Given the description of an element on the screen output the (x, y) to click on. 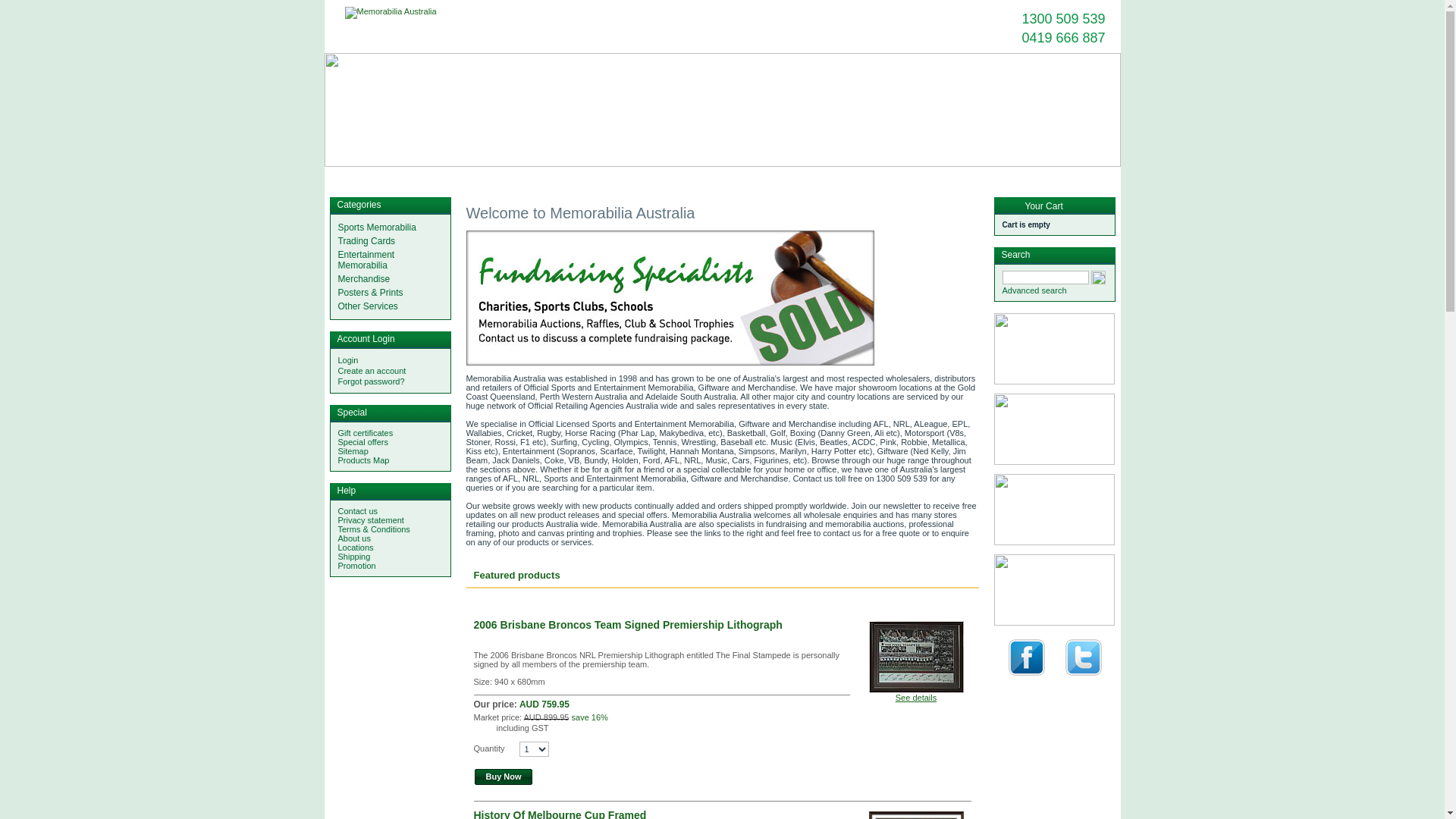
Merchandise Element type: text (707, 175)
Advanced search Element type: text (1034, 289)
Products Map Element type: text (363, 459)
Terms & Conditions Element type: text (374, 528)
2006 Brisbane Broncos Team Signed Premiership Lithograph Element type: text (627, 624)
Other Services Element type: text (846, 175)
Sports Memorabilia Element type: text (377, 227)
Special offers Element type: text (363, 441)
Gift certificates Element type: text (365, 432)
Forgot password? Element type: text (371, 380)
Contact us Element type: text (385, 175)
Trading Cards Element type: text (366, 240)
Merchandise Element type: text (364, 278)
Entertainment Memorabilia Element type: text (366, 259)
Entertainment Memorabilia Element type: text (620, 175)
Posters & Prints Element type: text (370, 292)
Buy Now Element type: text (503, 776)
Privacy statement Element type: text (371, 519)
About us Element type: text (354, 537)
Contact us Element type: text (358, 510)
Other Services Element type: text (368, 306)
Login Element type: text (348, 359)
See details Element type: text (916, 697)
Shipping Element type: text (354, 556)
Sitemap Element type: text (353, 450)
Locations Element type: text (355, 547)
Create an account Element type: text (372, 370)
Promotion Element type: text (357, 565)
Sports Memorabilia Element type: text (455, 175)
Home Element type: text (340, 175)
Trading Cards Element type: text (530, 175)
Posters & Prints Element type: text (775, 175)
